Given the description of an element on the screen output the (x, y) to click on. 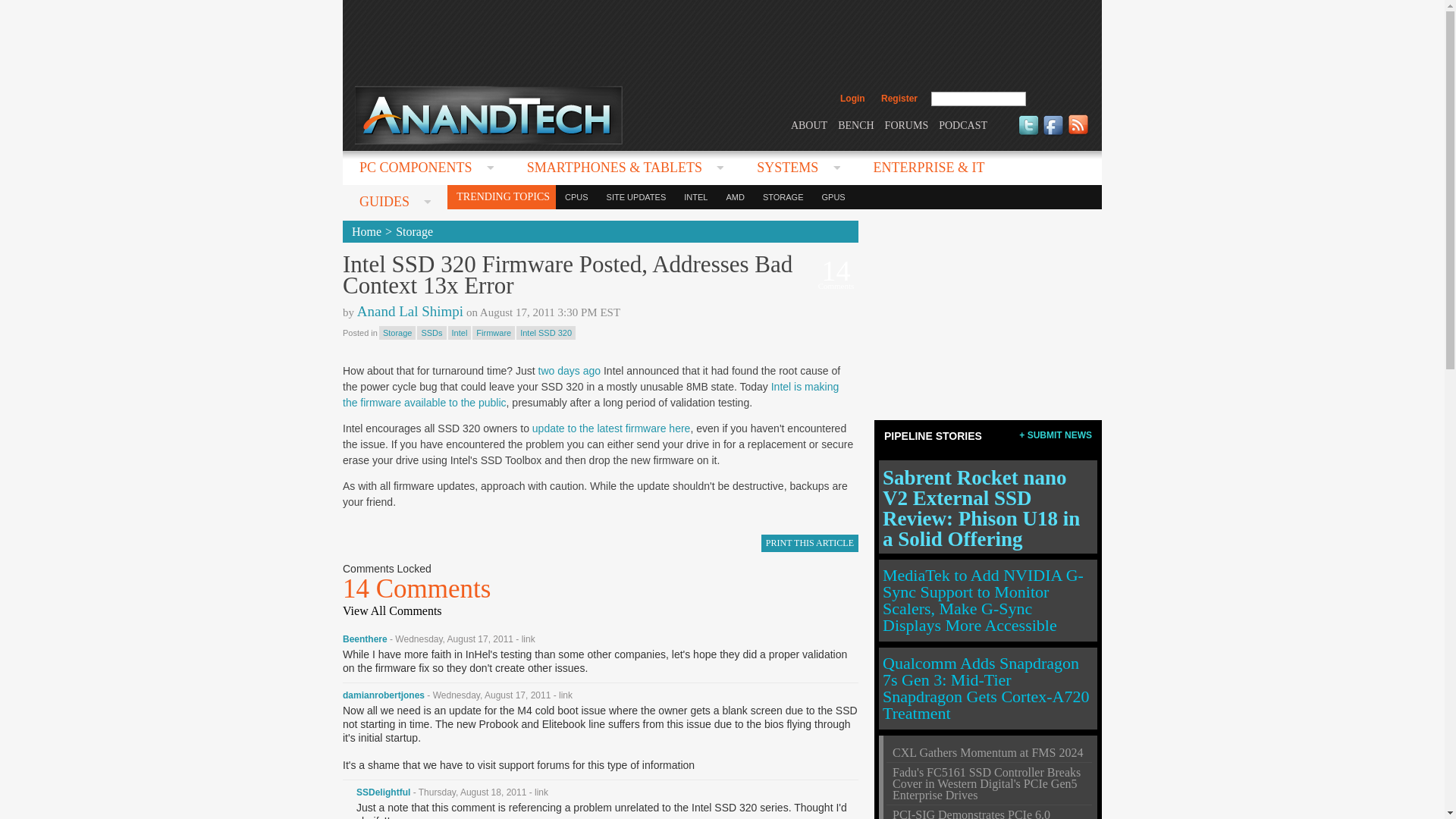
search (1059, 98)
PODCAST (963, 125)
FORUMS (906, 125)
Register (898, 98)
search (1059, 98)
Login (852, 98)
BENCH (855, 125)
ABOUT (808, 125)
search (1059, 98)
